Given the description of an element on the screen output the (x, y) to click on. 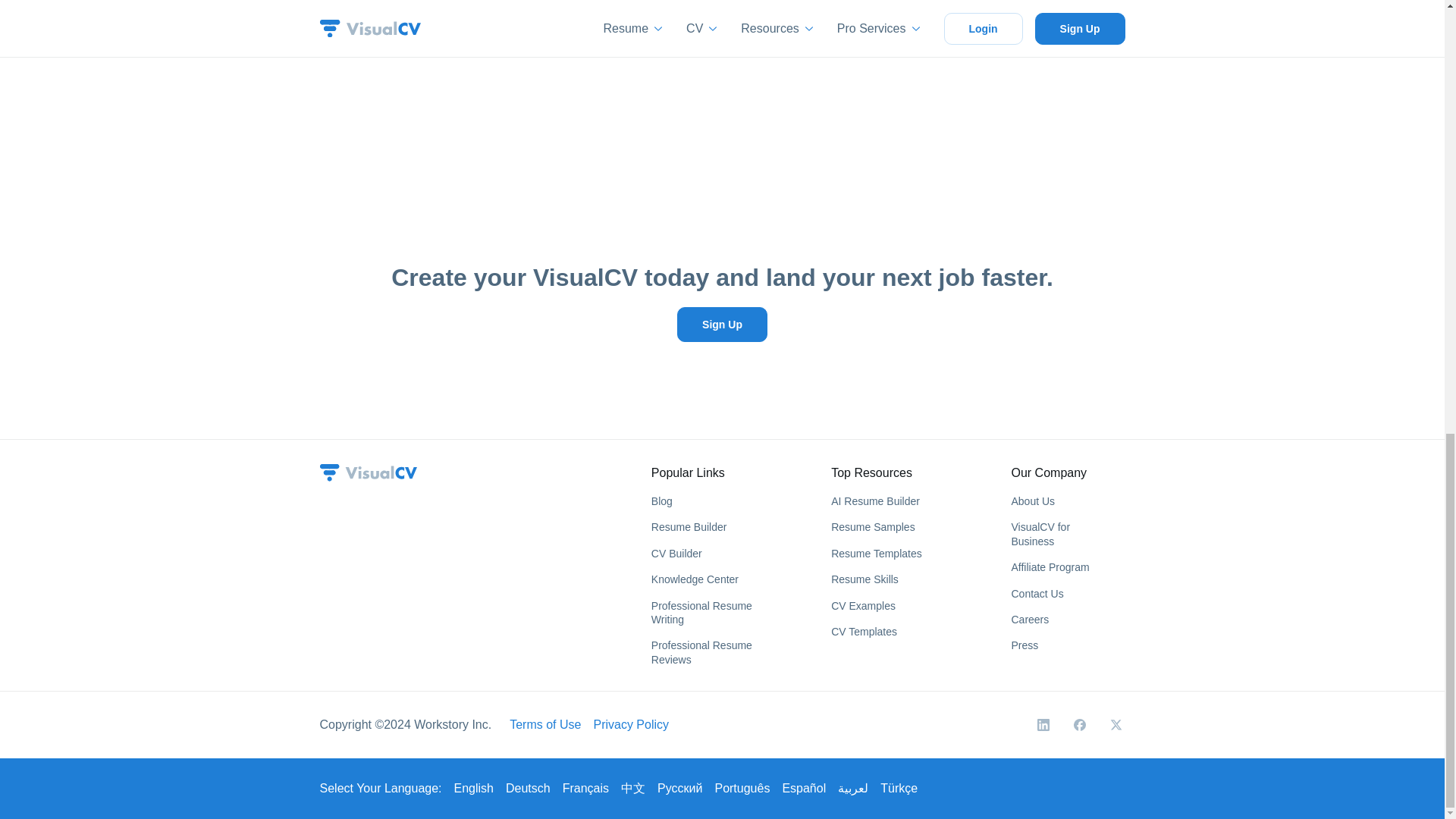
Sign Up (722, 324)
Professional Resume Writing (701, 612)
Resume Builder (688, 526)
Knowledge Center (694, 579)
Blog (661, 500)
CV Builder (675, 553)
